Given the description of an element on the screen output the (x, y) to click on. 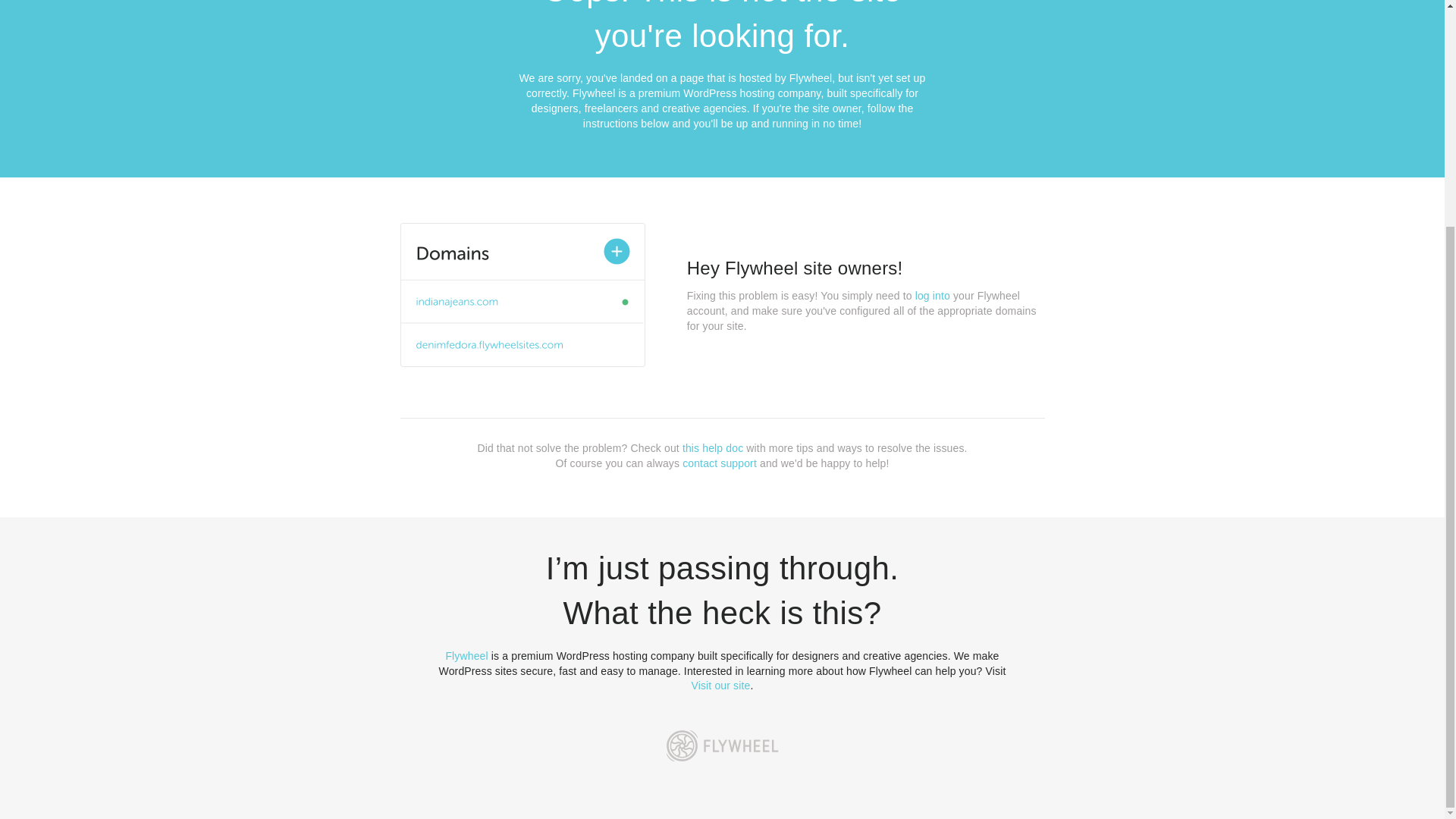
log into (932, 295)
this help doc (712, 448)
Visit our site (721, 685)
Flywheel (466, 655)
contact support (719, 463)
